Given the description of an element on the screen output the (x, y) to click on. 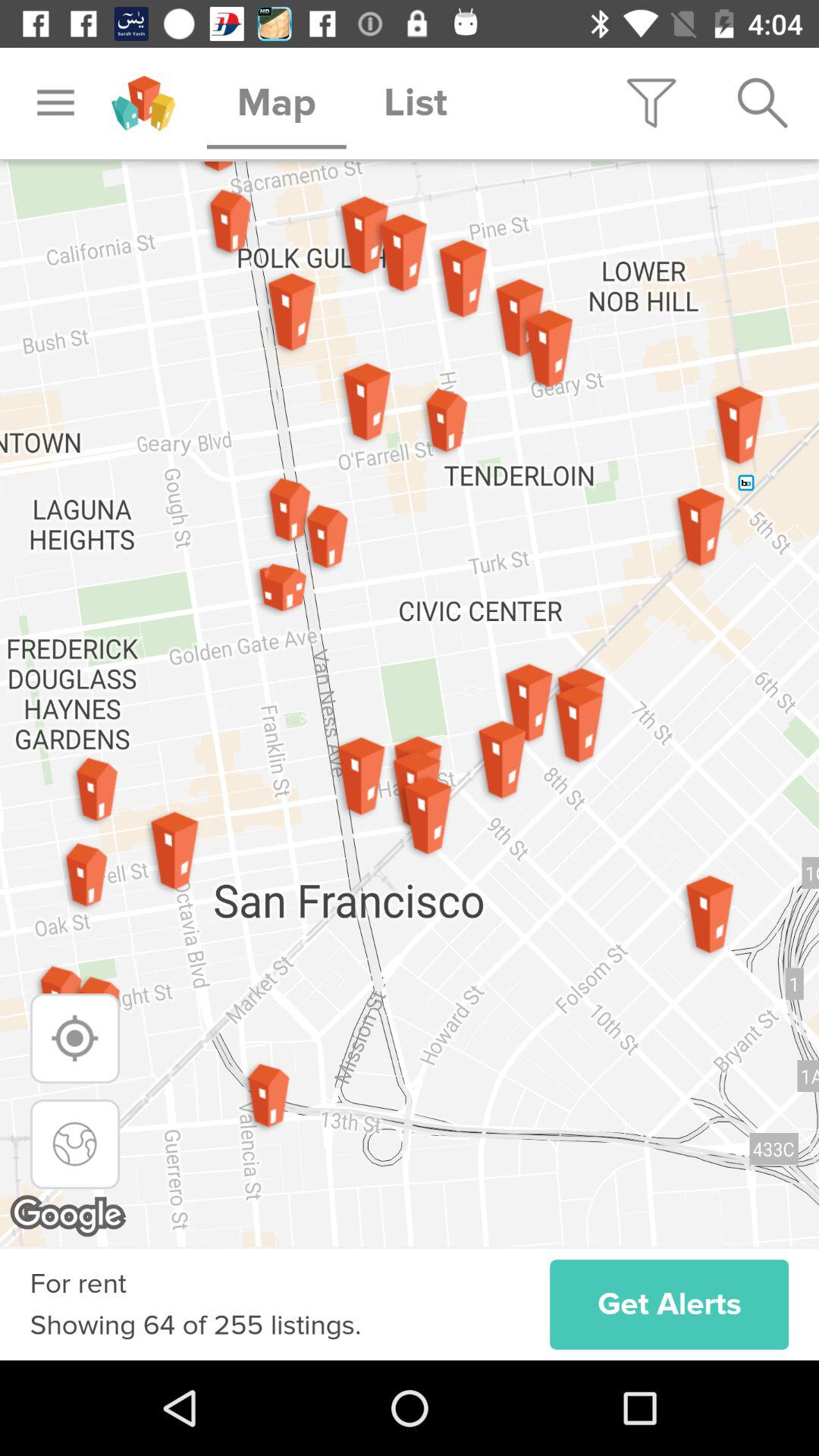
track location (75, 1038)
